Given the description of an element on the screen output the (x, y) to click on. 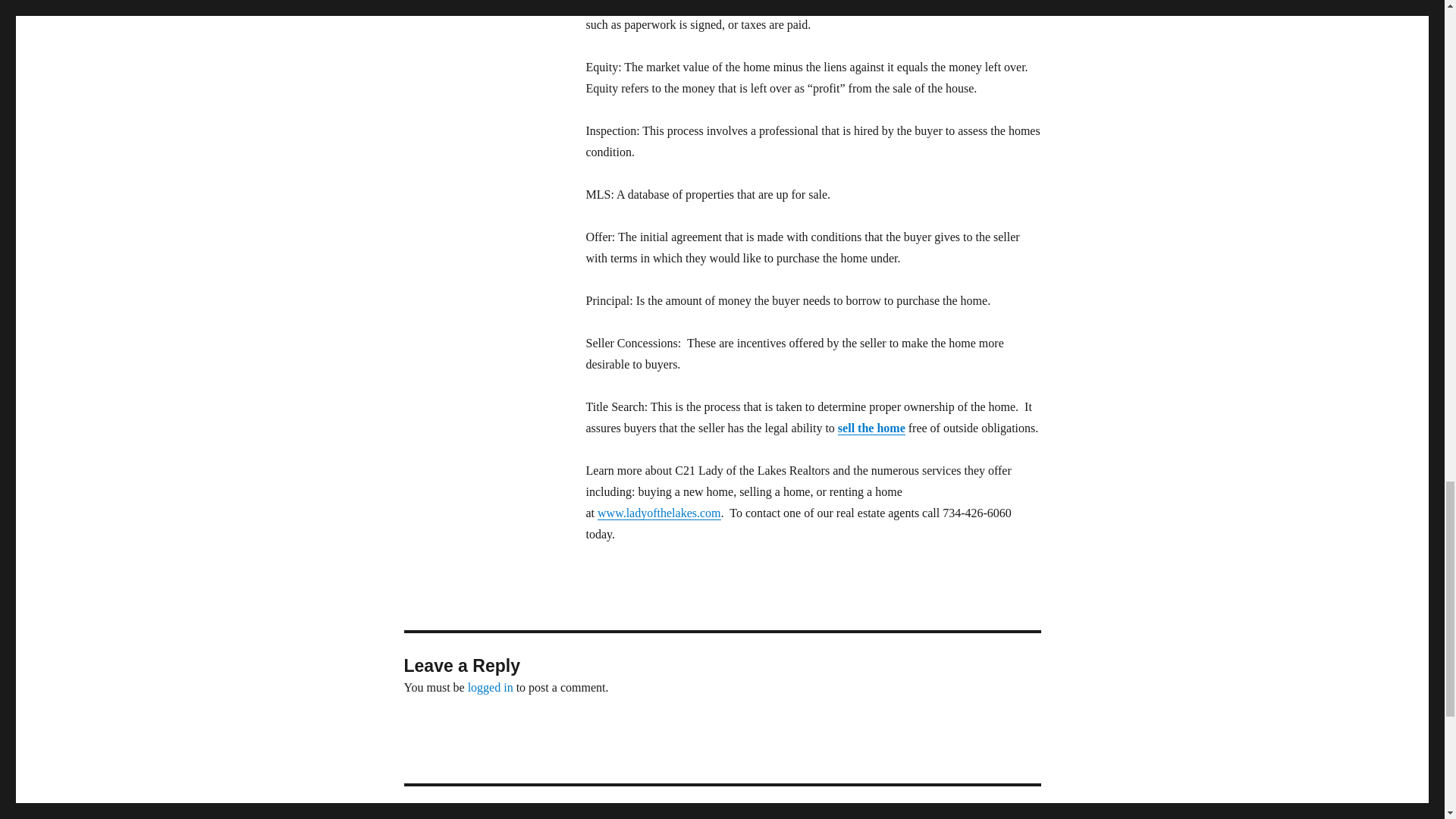
logged in (490, 686)
sell the home (871, 427)
www.ladyofthelakes.com (658, 512)
